Given the description of an element on the screen output the (x, y) to click on. 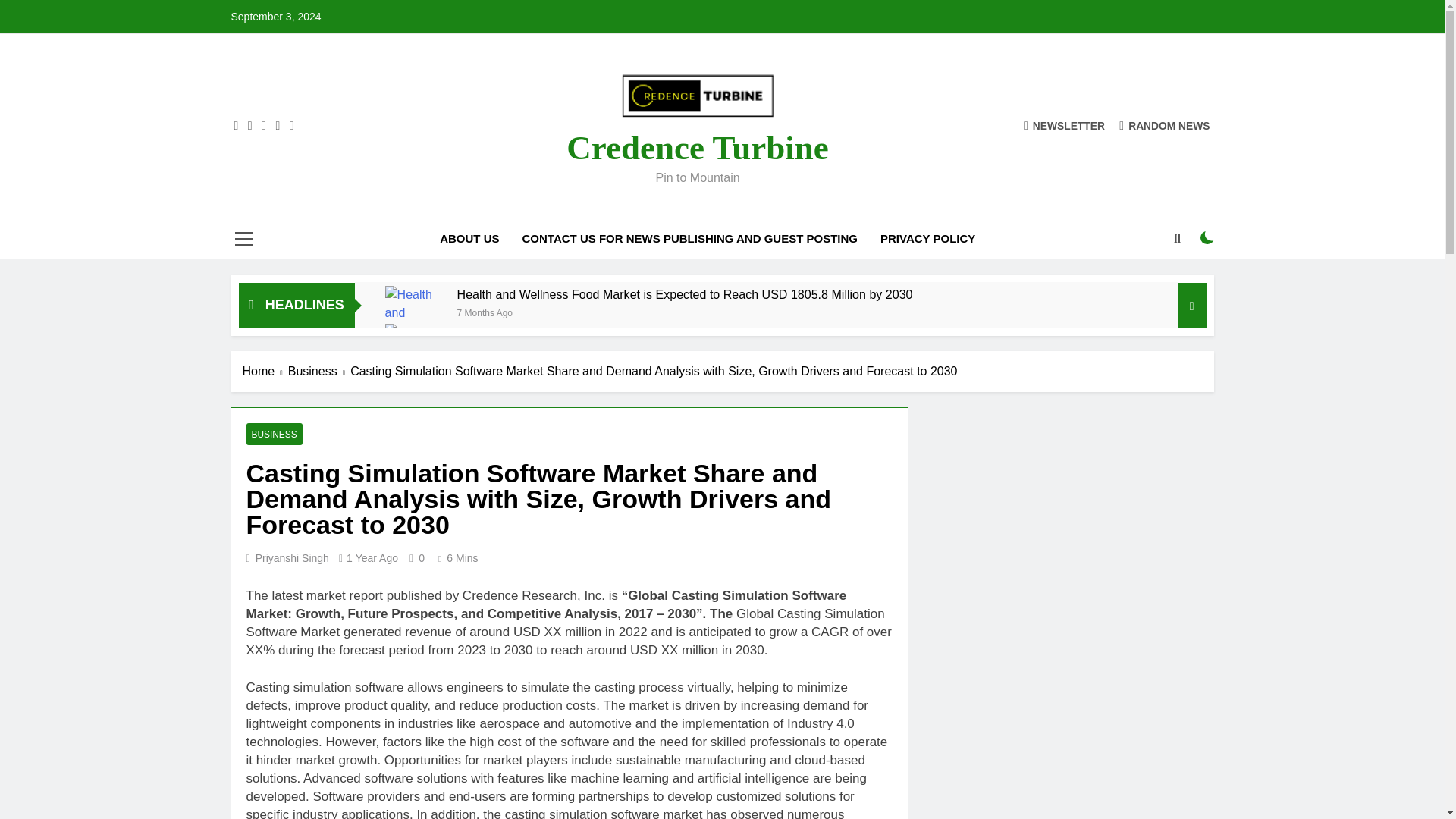
on (1206, 237)
RANDOM NEWS (1164, 124)
CONTACT US FOR NEWS PUBLISHING AND GUEST POSTING (690, 238)
ABOUT US (469, 238)
7 Months Ago (484, 311)
NEWSLETTER (1064, 124)
